Given the description of an element on the screen output the (x, y) to click on. 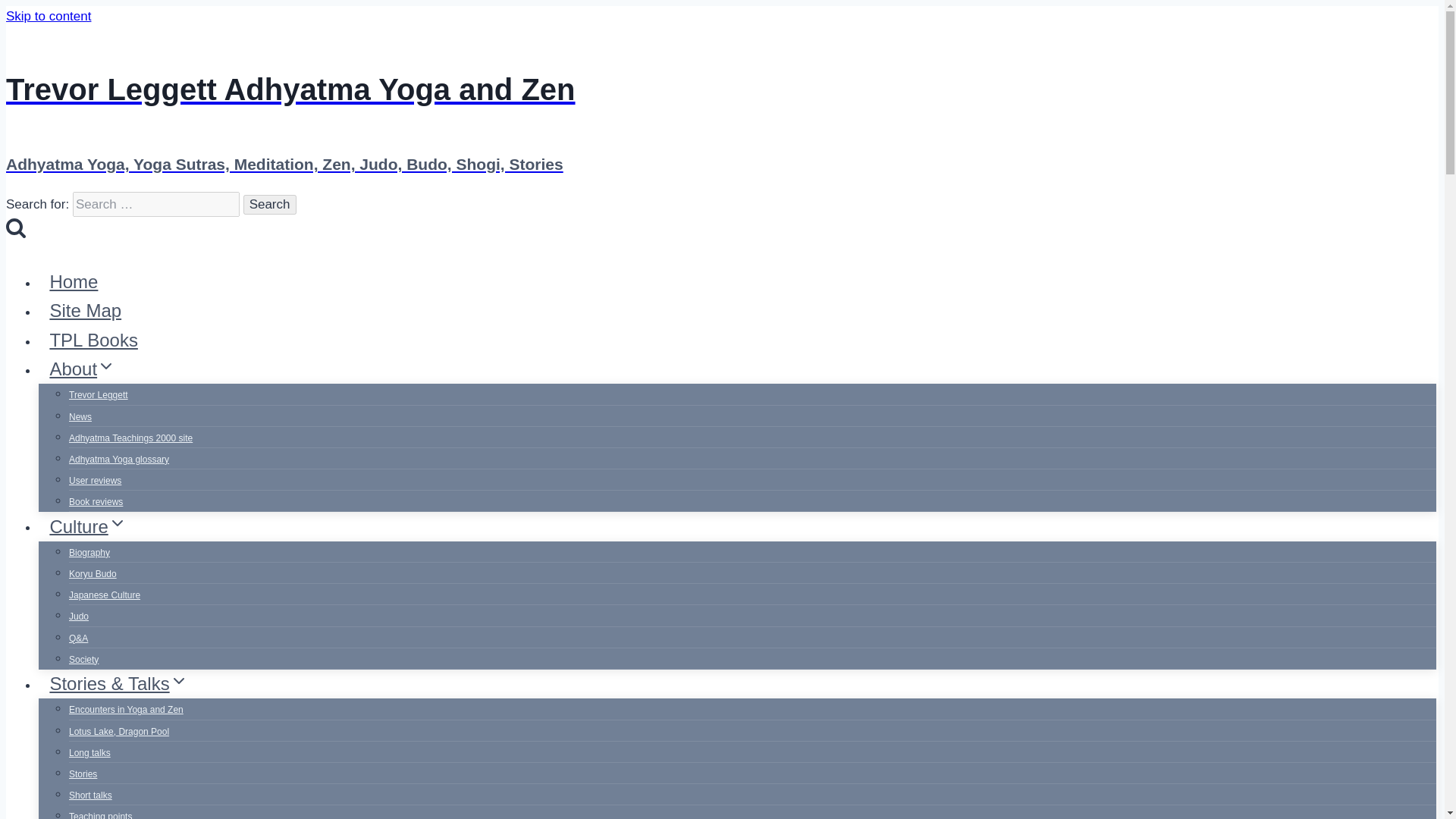
Adhyatma Yoga glossary (118, 459)
Stories (82, 774)
Trevor Leggett (98, 394)
Search (270, 204)
Skip to content (47, 16)
User reviews (94, 480)
Expand (178, 680)
Lotus Lake, Dragon Pool (118, 731)
Encounters in Yoga and Zen (125, 709)
Adhyatma Teachings 2000 site (130, 438)
Search (15, 227)
Home (74, 281)
Book reviews (95, 501)
Biography (89, 552)
Expand (106, 366)
